Given the description of an element on the screen output the (x, y) to click on. 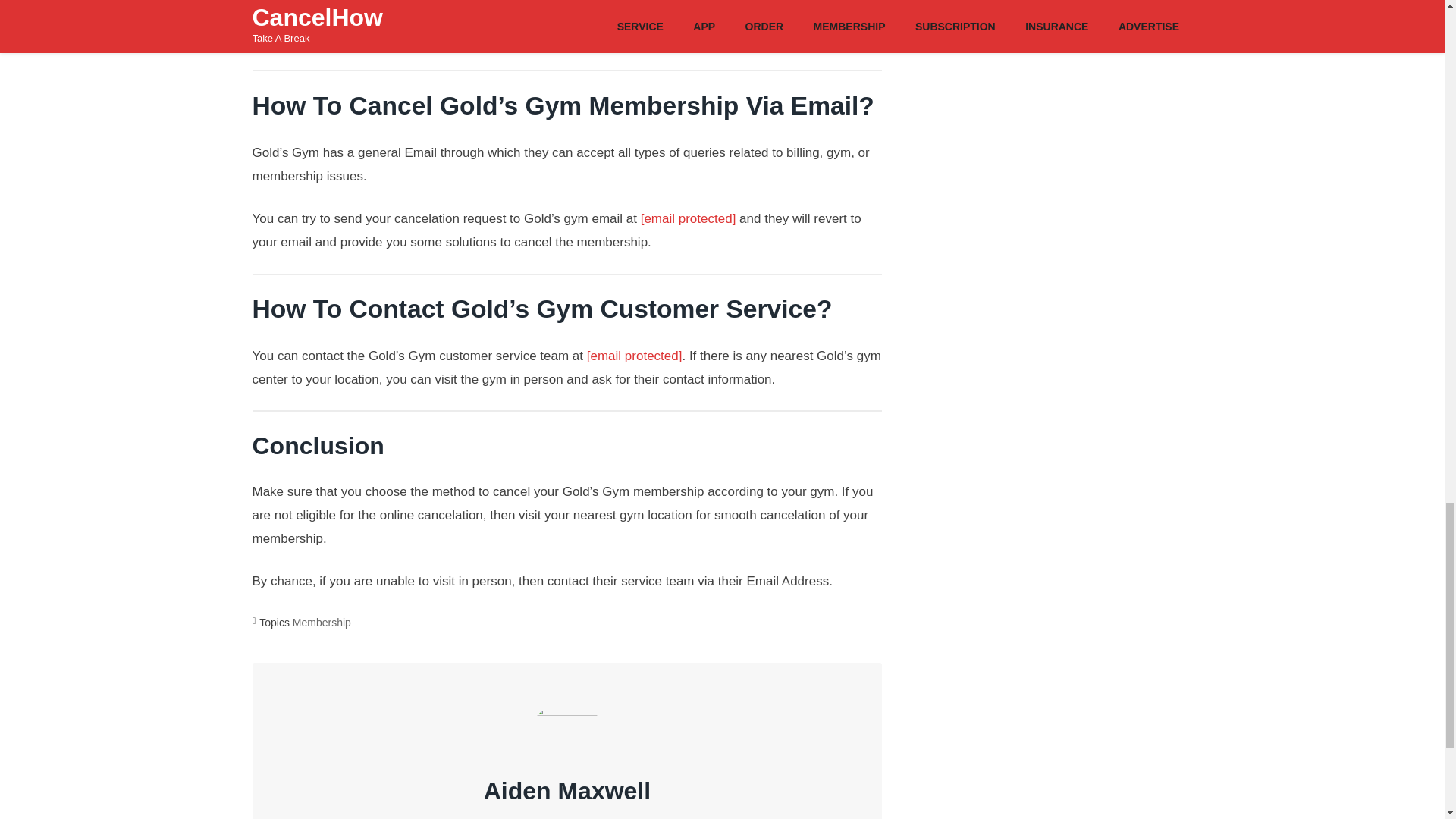
Posts by Aiden Maxwell (566, 790)
Membership (321, 622)
Aiden Maxwell (566, 790)
